Given the description of an element on the screen output the (x, y) to click on. 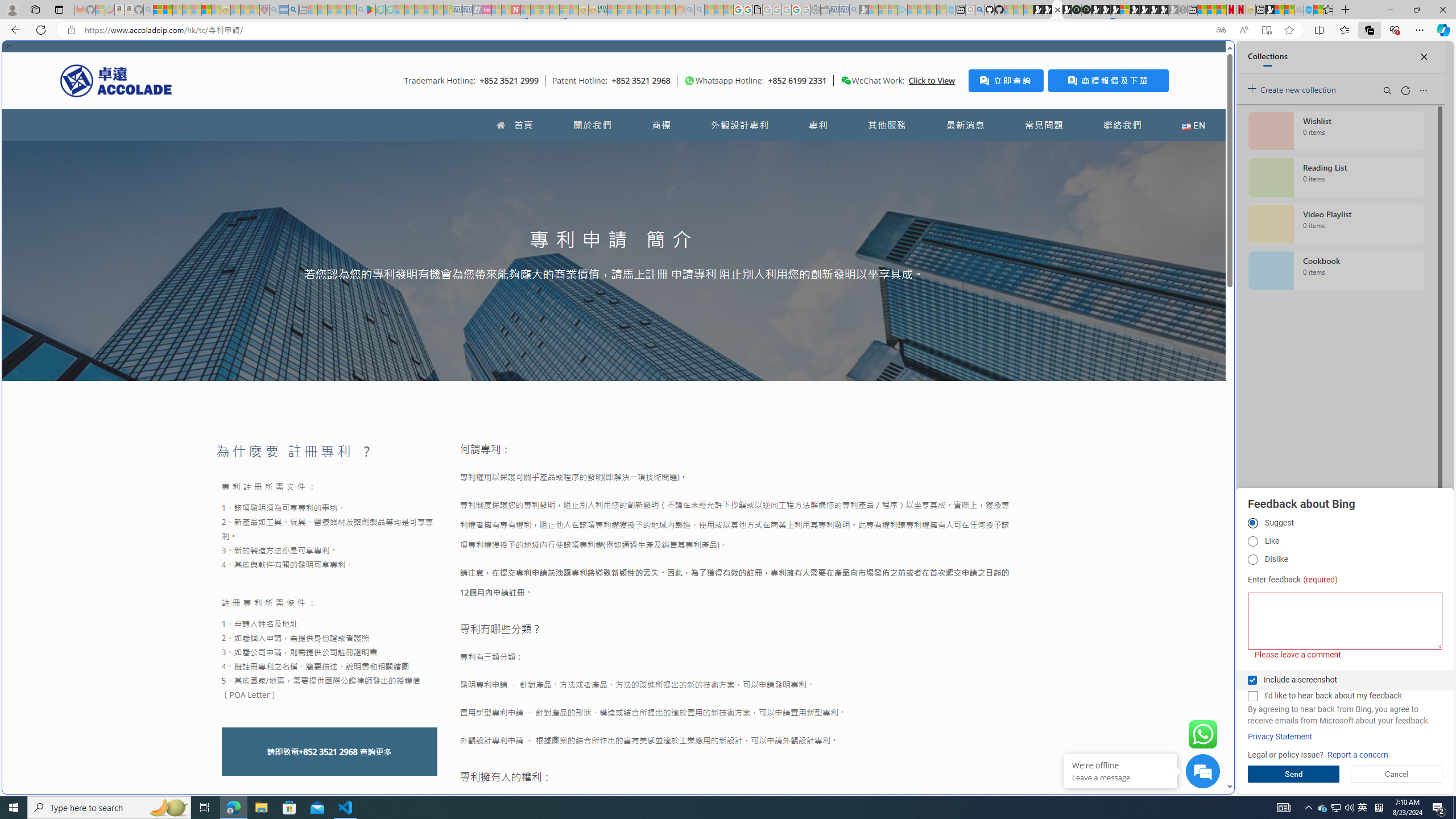
Privacy Statement (1280, 737)
Expert Portfolios - Sleeping (640, 9)
google - Search - Sleeping (360, 9)
